Given the description of an element on the screen output the (x, y) to click on. 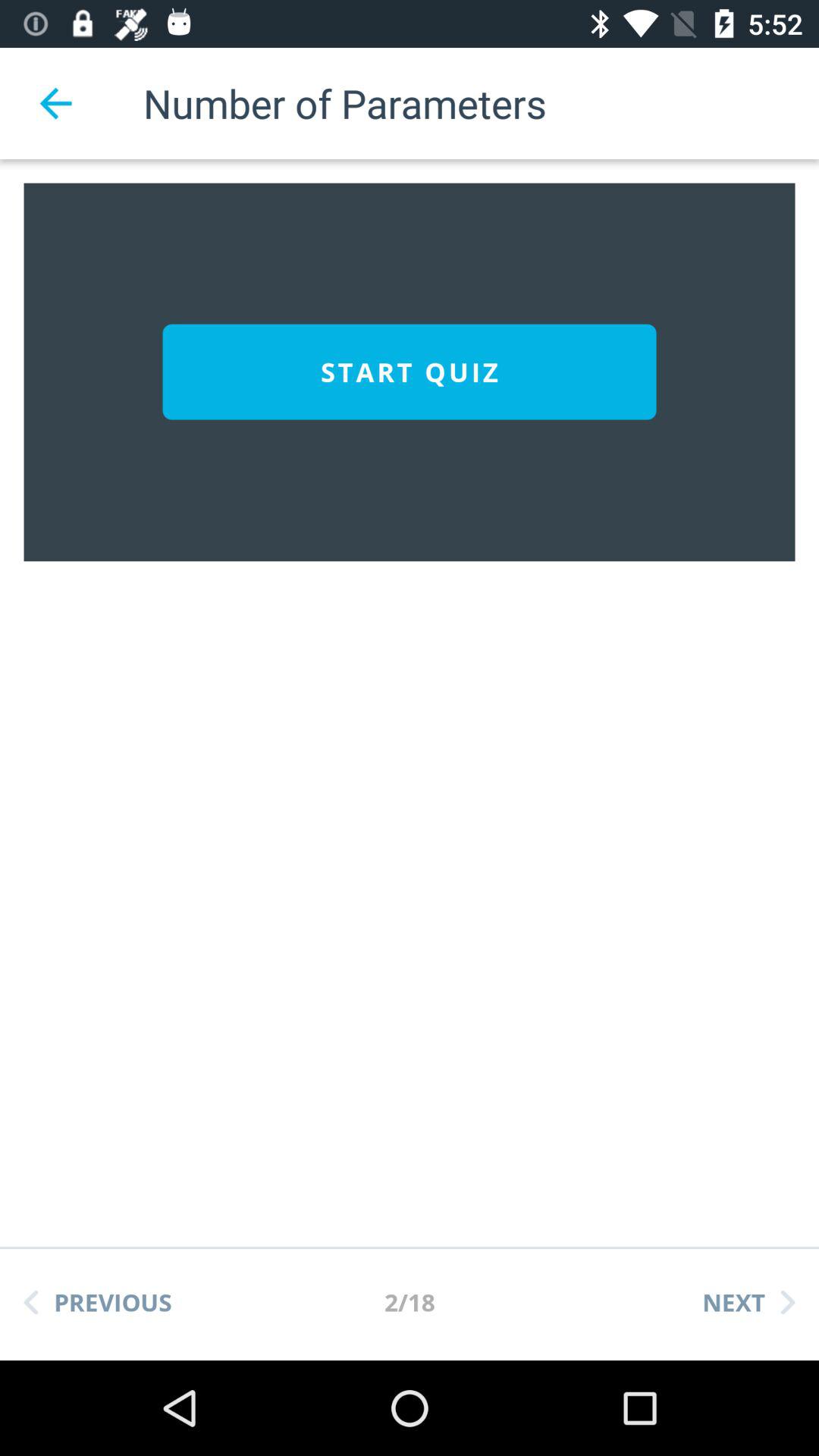
turn off the item below the start quiz item (97, 1302)
